Given the description of an element on the screen output the (x, y) to click on. 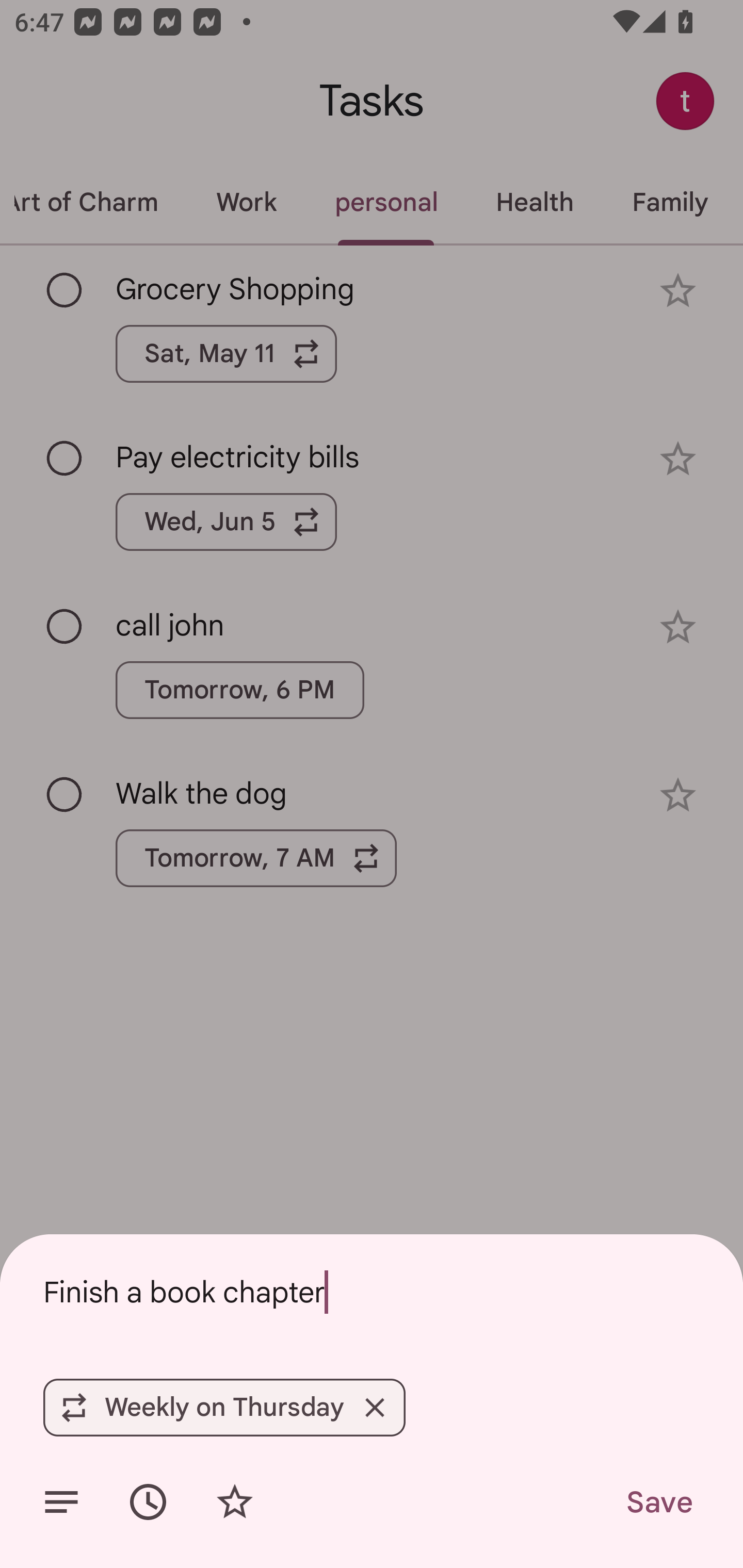
Finish a book chapter (371, 1291)
Weekly on Thursday Remove Weekly on Thursday (224, 1407)
Save (659, 1501)
Add details (60, 1501)
Set date/time (147, 1501)
Add star (234, 1501)
